Given the description of an element on the screen output the (x, y) to click on. 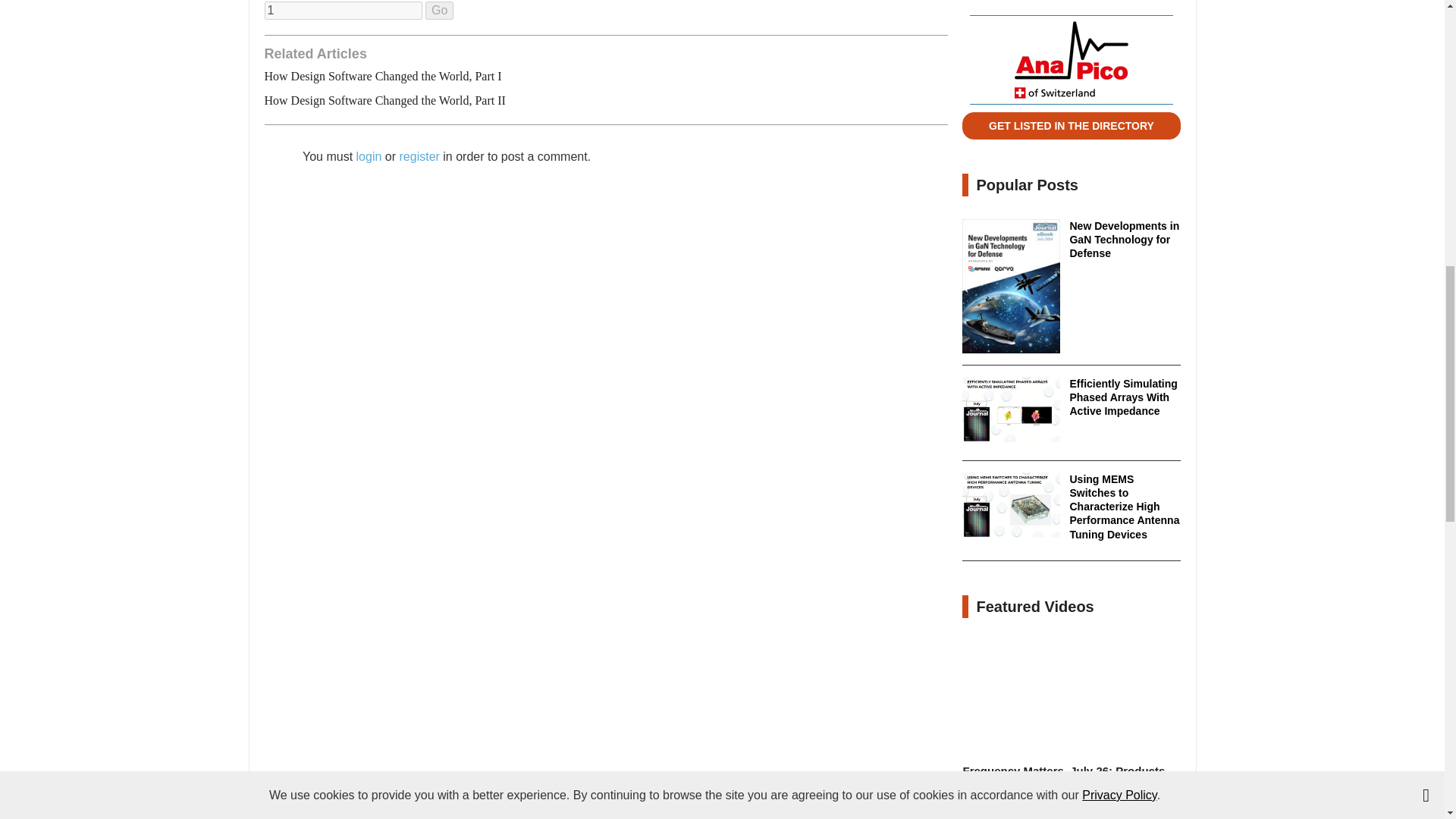
How Design Software Changed the World, Part II (384, 100)
How Design Software Changed the World, Part I (381, 75)
Go (438, 10)
NEW-42307.png (1010, 504)
1 (342, 10)
NEW-42306.png (1010, 409)
